Given the description of an element on the screen output the (x, y) to click on. 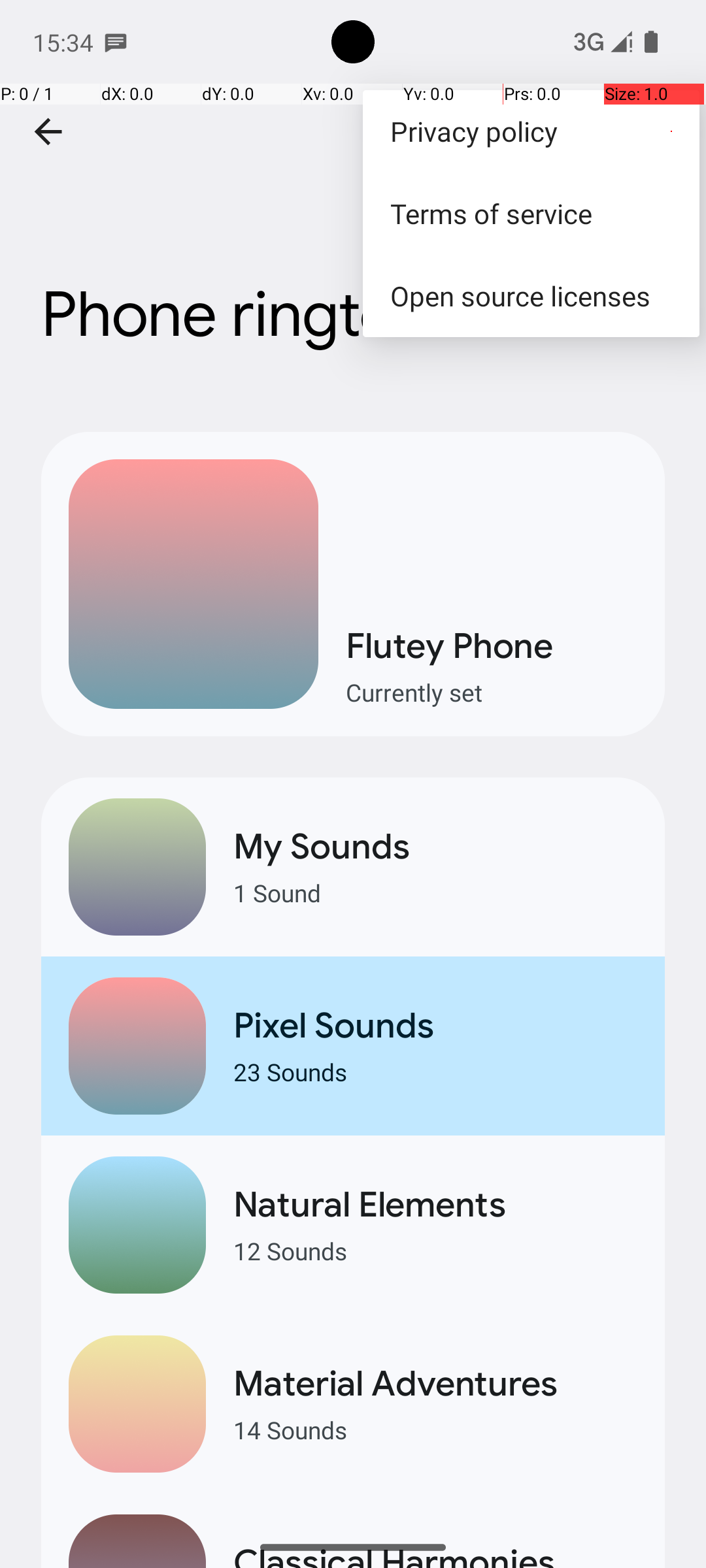
Terms of service Element type: android.widget.TextView (531, 212)
Open source licenses Element type: android.widget.TextView (531, 295)
